Given the description of an element on the screen output the (x, y) to click on. 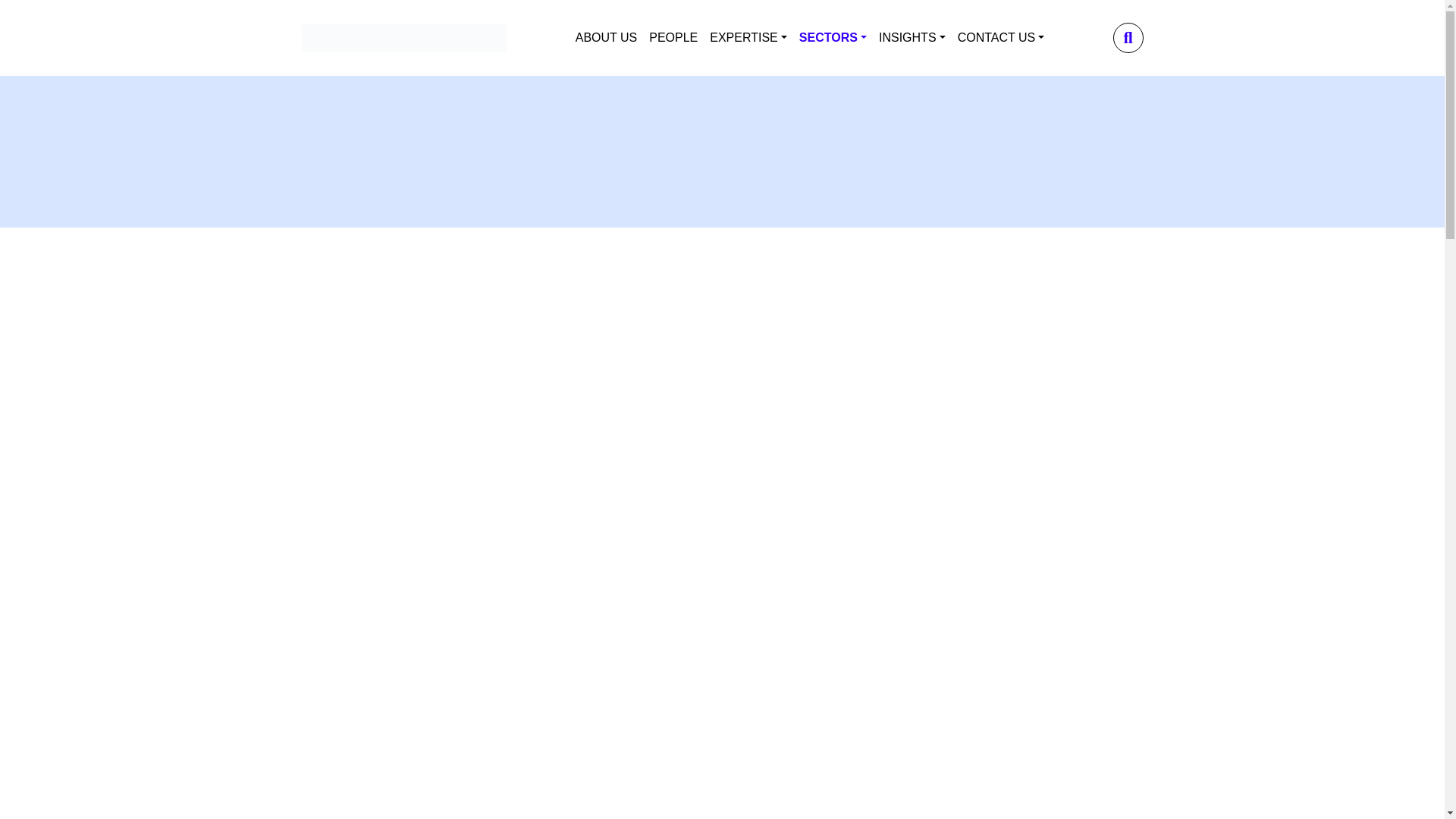
PEOPLE (673, 38)
ABOUT US (606, 38)
SECTORS (832, 38)
EXPERTISE (748, 38)
